Given the description of an element on the screen output the (x, y) to click on. 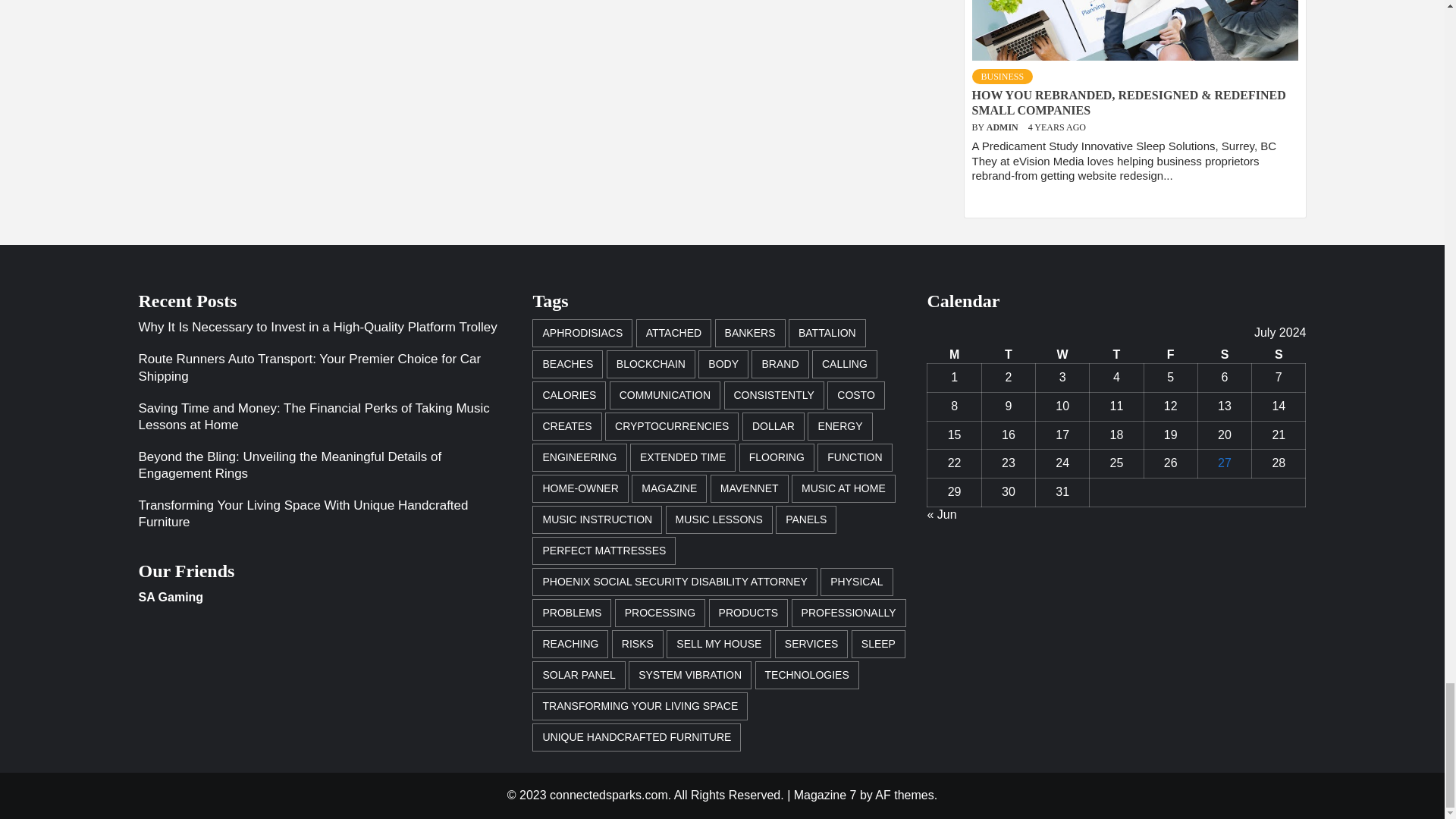
Tuesday (1008, 355)
Monday (954, 355)
Wednesday (1062, 355)
Thursday (1115, 355)
Sunday (1279, 355)
Saturday (1223, 355)
Friday (1169, 355)
